Given the description of an element on the screen output the (x, y) to click on. 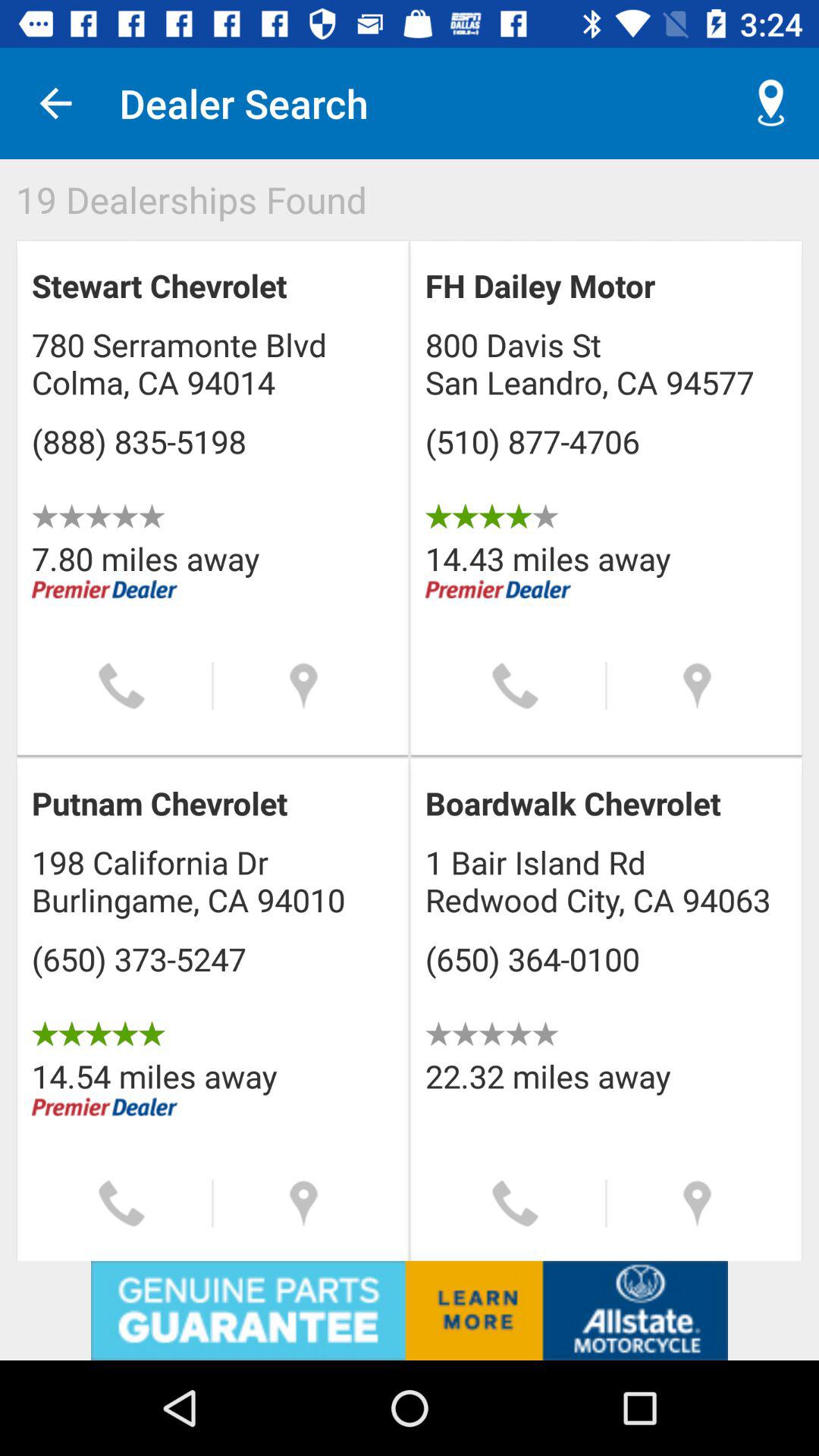
call the location (515, 685)
